Given the description of an element on the screen output the (x, y) to click on. 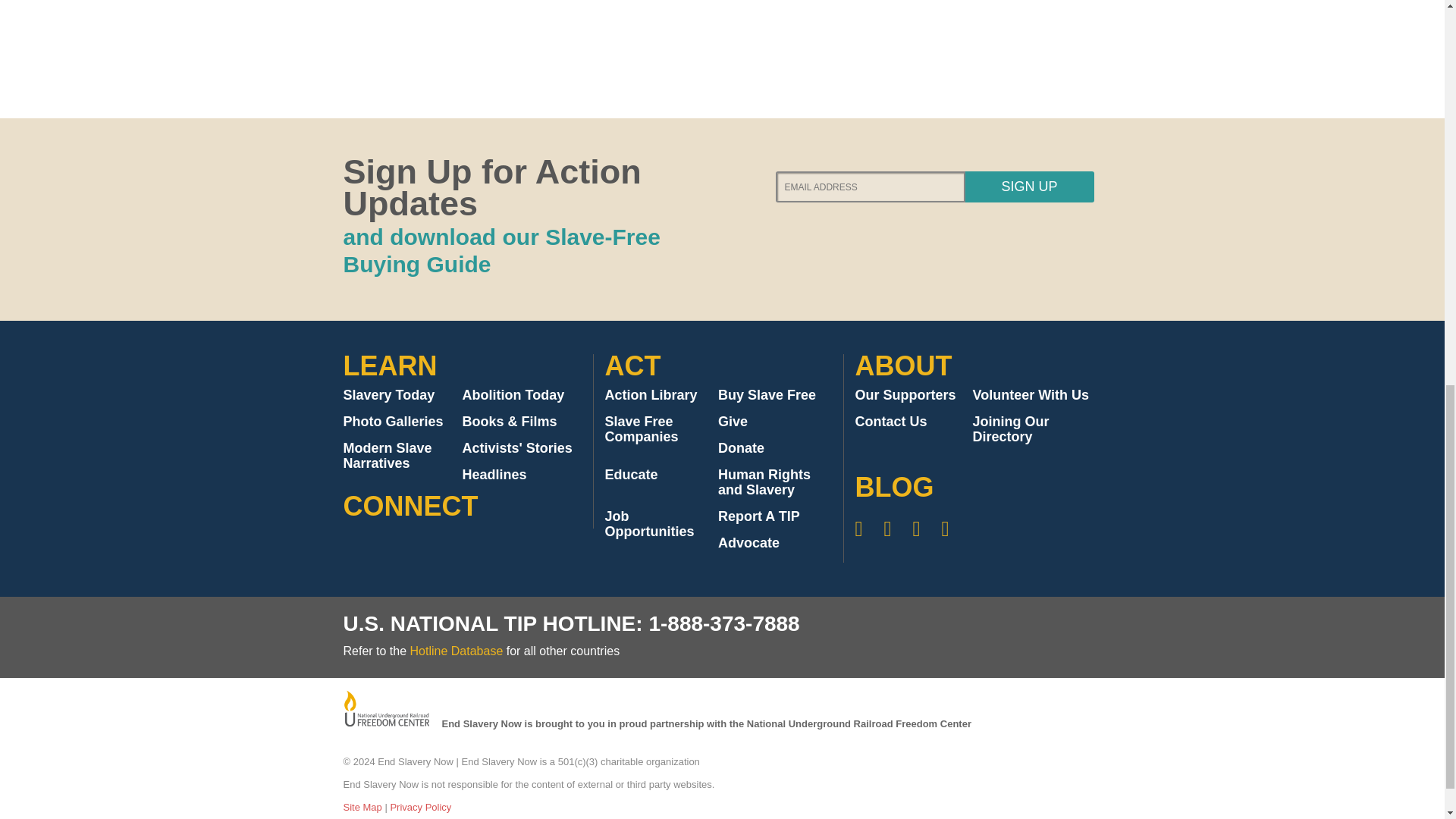
Educate (631, 474)
Photo Galleries (392, 421)
Slave Free Companies (641, 429)
CONNECT (409, 505)
Buy Slave Free (766, 394)
Human Rights and Slavery (763, 481)
LEARN (389, 365)
Slavery Today (387, 394)
ACT (633, 365)
Headlines (495, 474)
Action Library (651, 394)
Abolition Today (513, 394)
Donate (740, 447)
Give (732, 421)
Sign up (1028, 186)
